Given the description of an element on the screen output the (x, y) to click on. 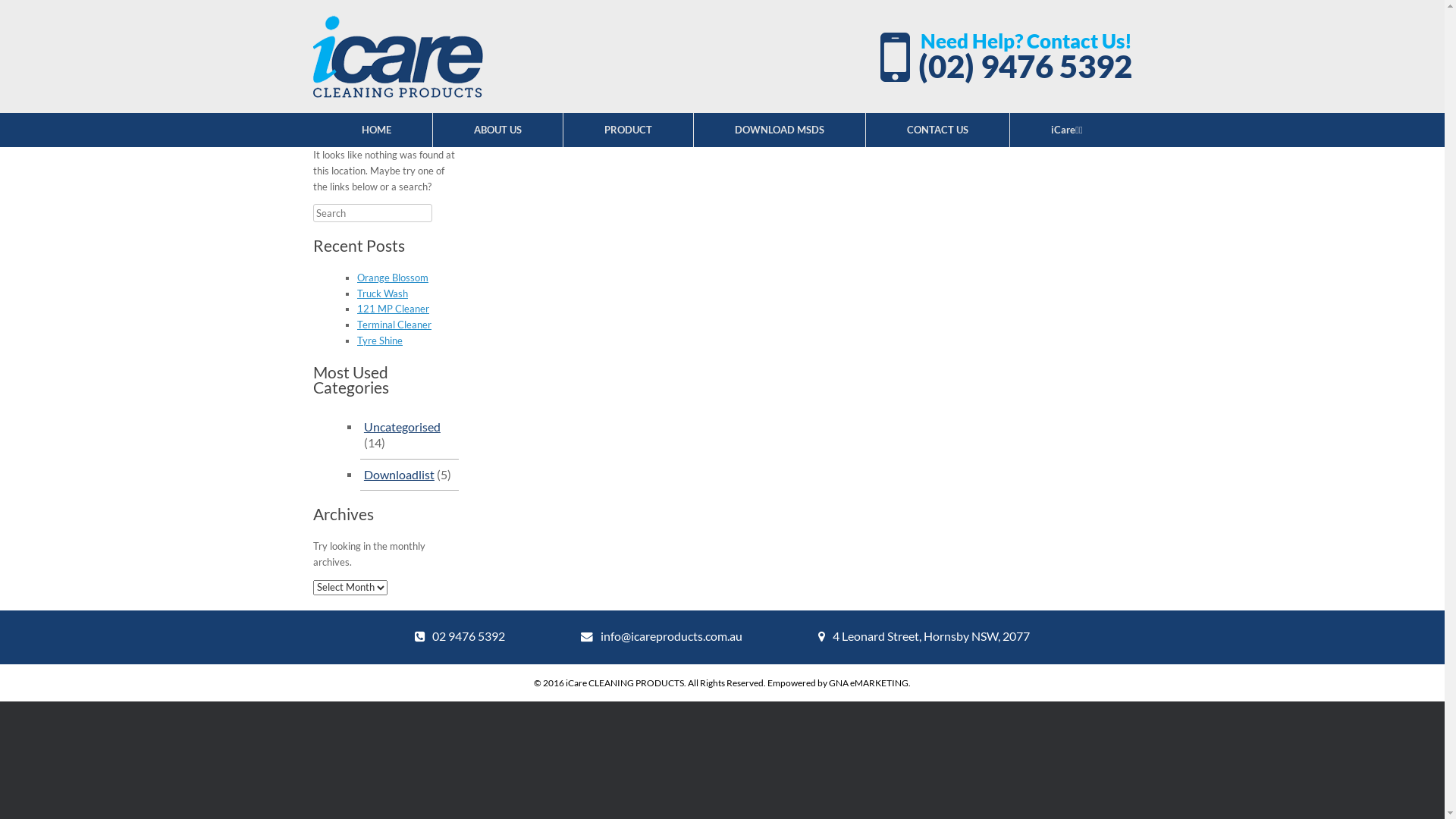
HOME Element type: text (376, 129)
DOWNLOAD MSDS Element type: text (779, 129)
iCare Element type: hover (397, 56)
Uncategorised Element type: text (402, 426)
Orange Blossom Element type: text (392, 277)
CONTACT US Element type: text (938, 129)
GNA eMARKETING. Element type: text (869, 682)
Downloadlist Element type: text (399, 474)
121 MP Cleaner Element type: text (393, 308)
ABOUT US Element type: text (498, 129)
Tyre Shine Element type: text (379, 340)
Truck Wash Element type: text (382, 293)
Terminal Cleaner Element type: text (394, 324)
PRODUCT Element type: text (628, 129)
